Given the description of an element on the screen output the (x, y) to click on. 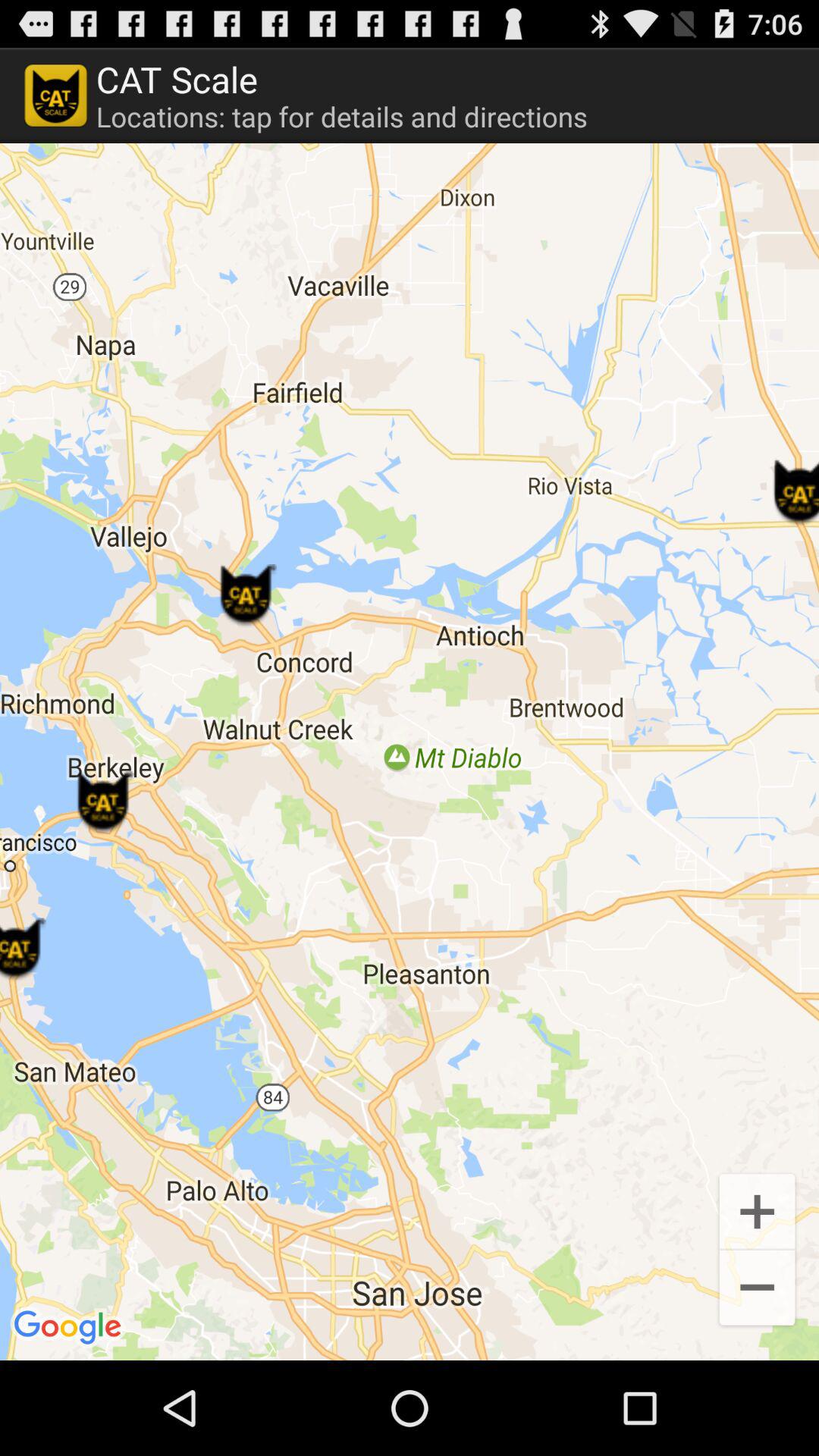
open the icon at the center (409, 751)
